Given the description of an element on the screen output the (x, y) to click on. 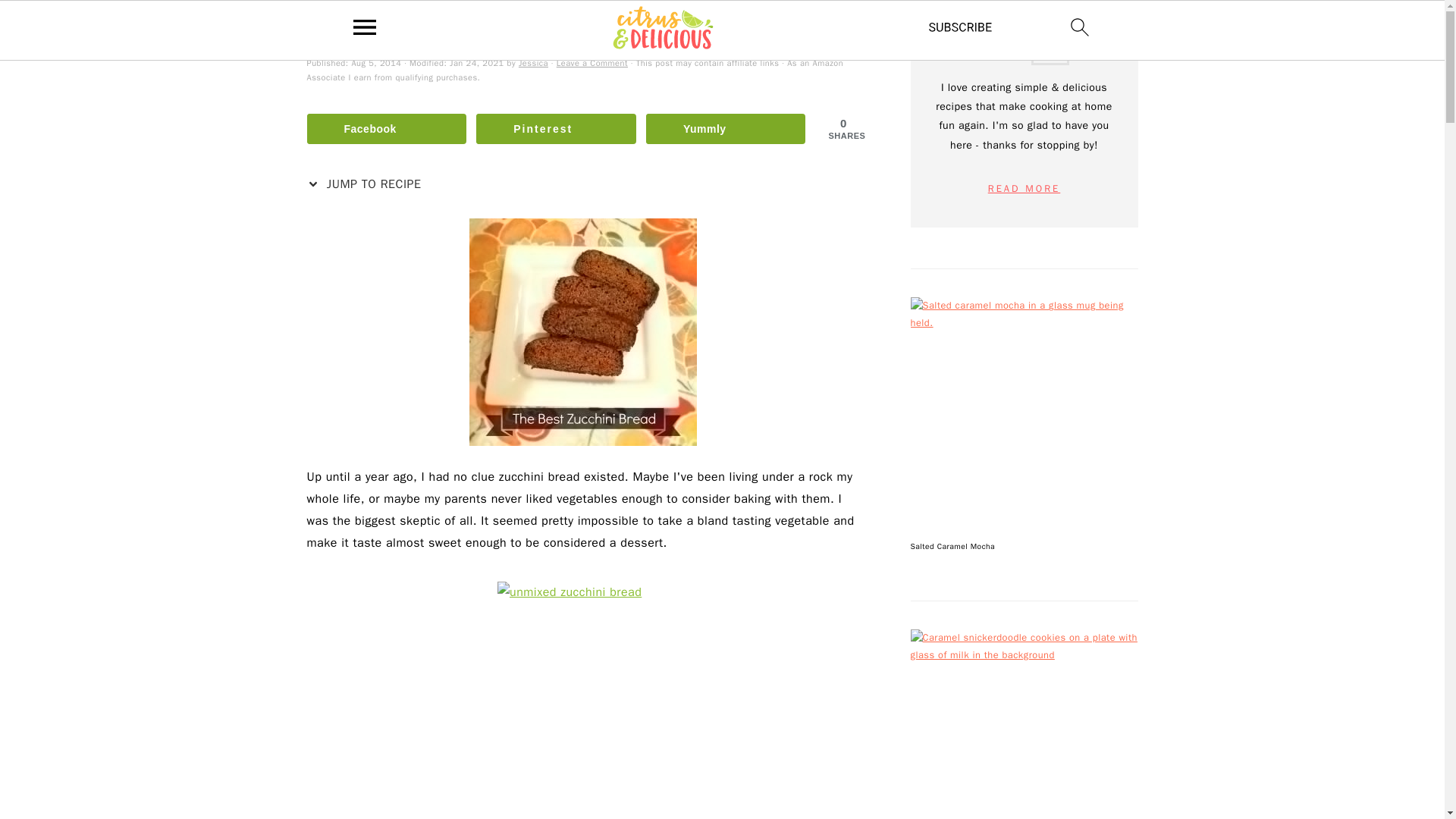
Share on Yummly (726, 128)
Share on Facebook (385, 128)
menu icon (365, 26)
search icon (1080, 26)
Salted Caramel Mocha (1023, 410)
Save to Pinterest (556, 128)
Caramel Snickerdoodles (1023, 724)
